Given the description of an element on the screen output the (x, y) to click on. 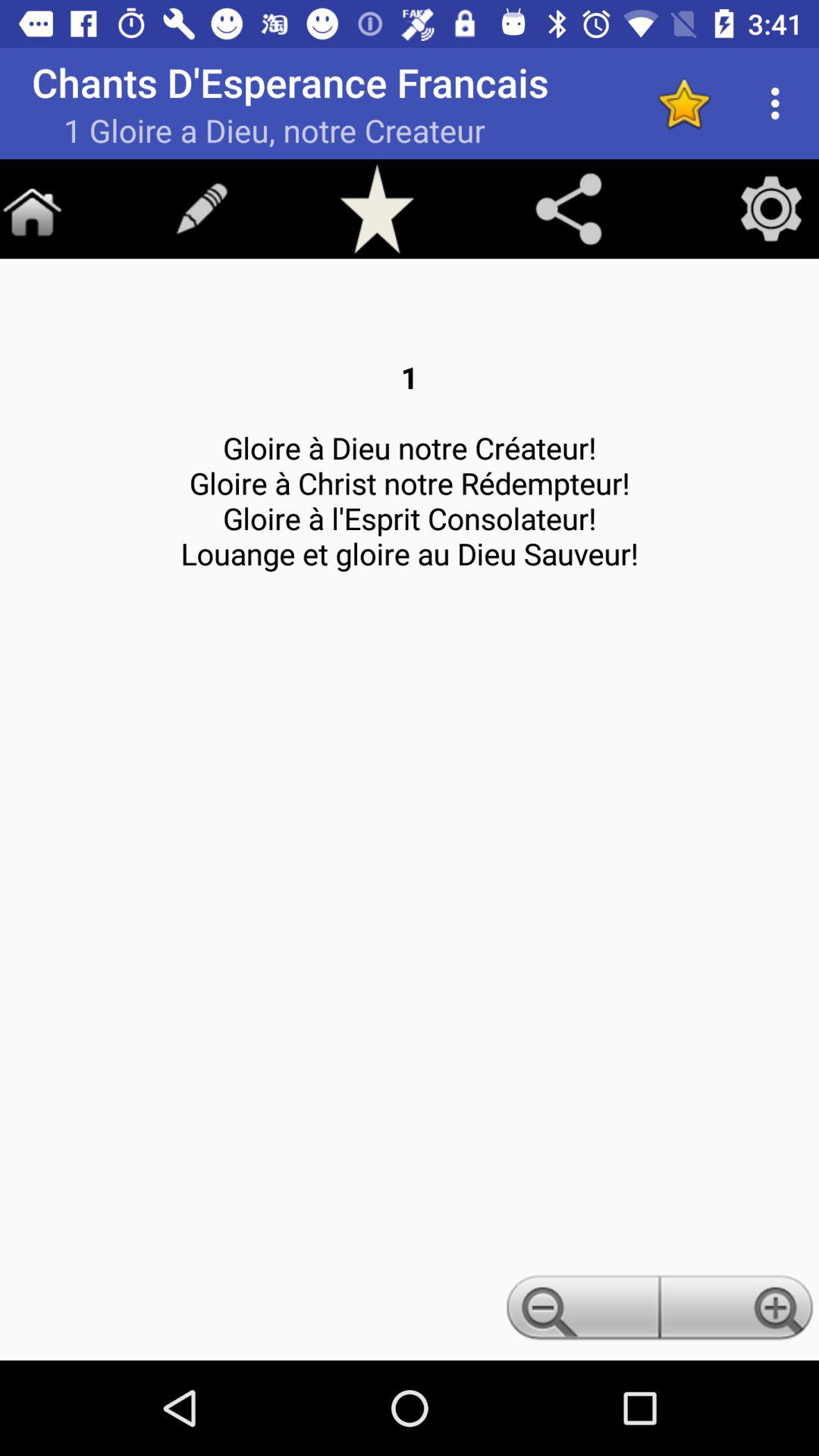
press to zoom out (579, 1311)
